Given the description of an element on the screen output the (x, y) to click on. 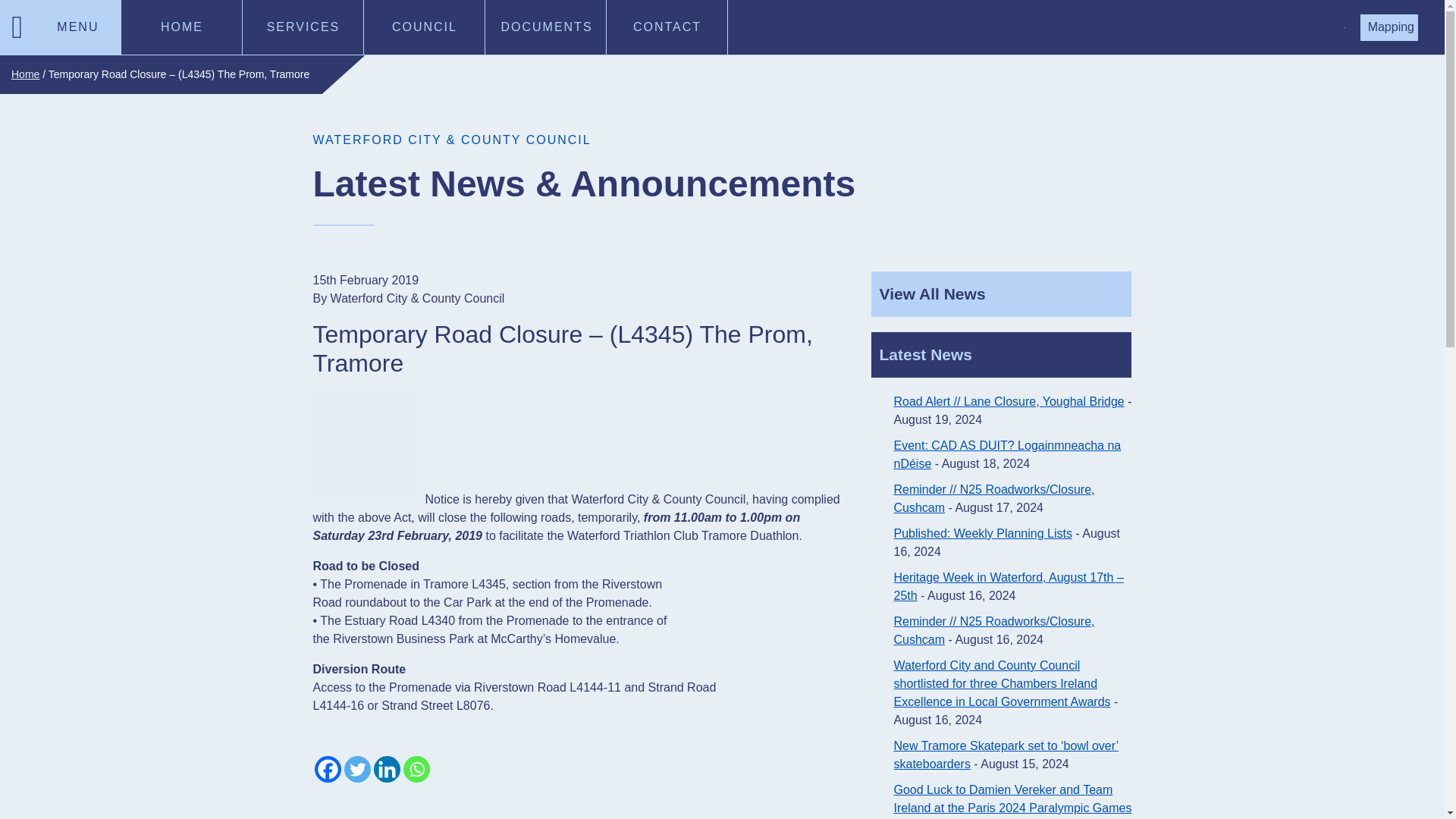
Twitter (357, 768)
Published: Weekly Planning Lists (982, 533)
Linkedin (385, 768)
SERVICES (303, 27)
Facebook (327, 768)
Whatsapp (416, 768)
COUNCIL (424, 27)
View All News (1000, 293)
